Given the description of an element on the screen output the (x, y) to click on. 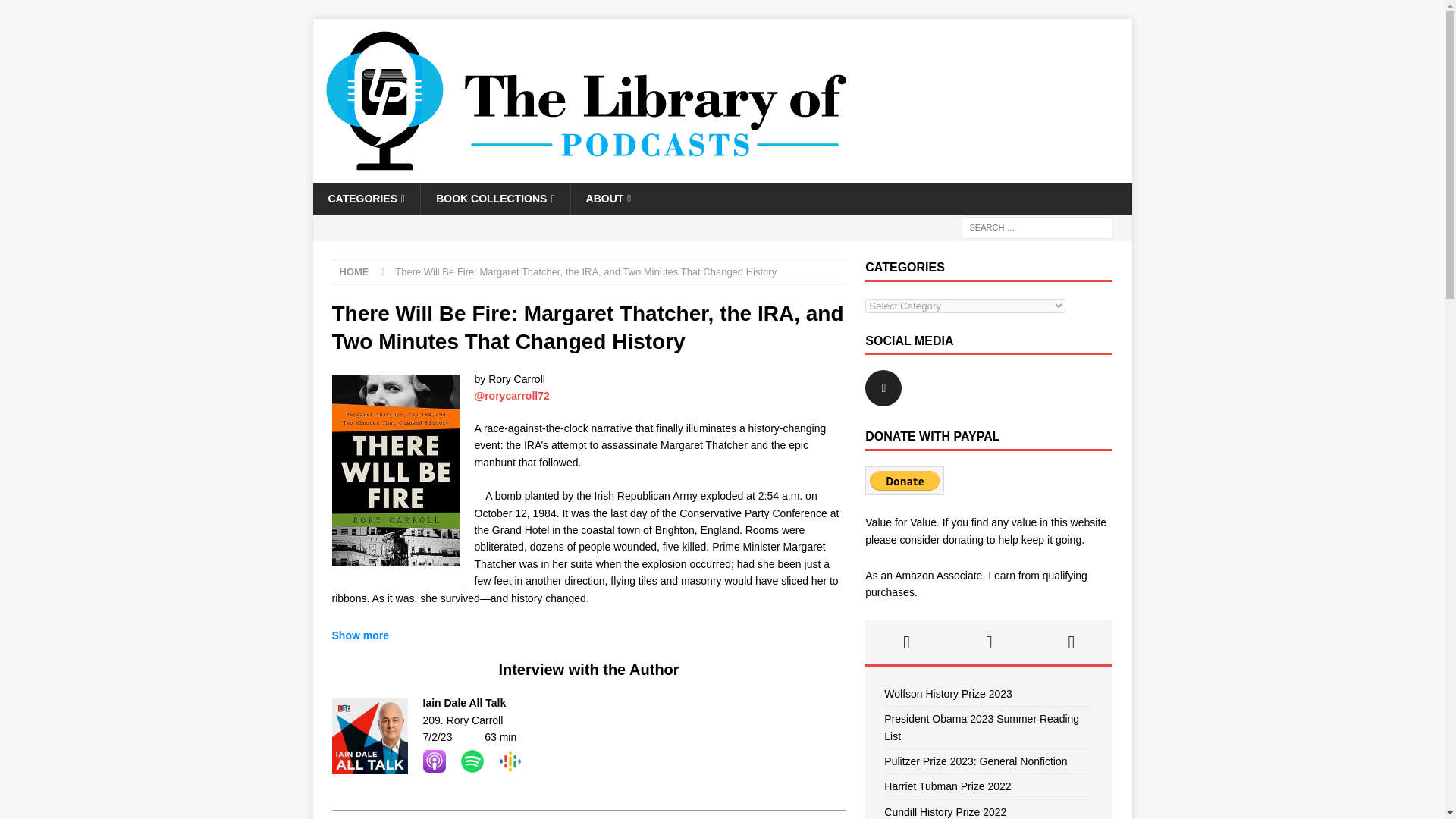
CATEGORIES (366, 198)
The Library of Podcasts (586, 174)
